Given the description of an element on the screen output the (x, y) to click on. 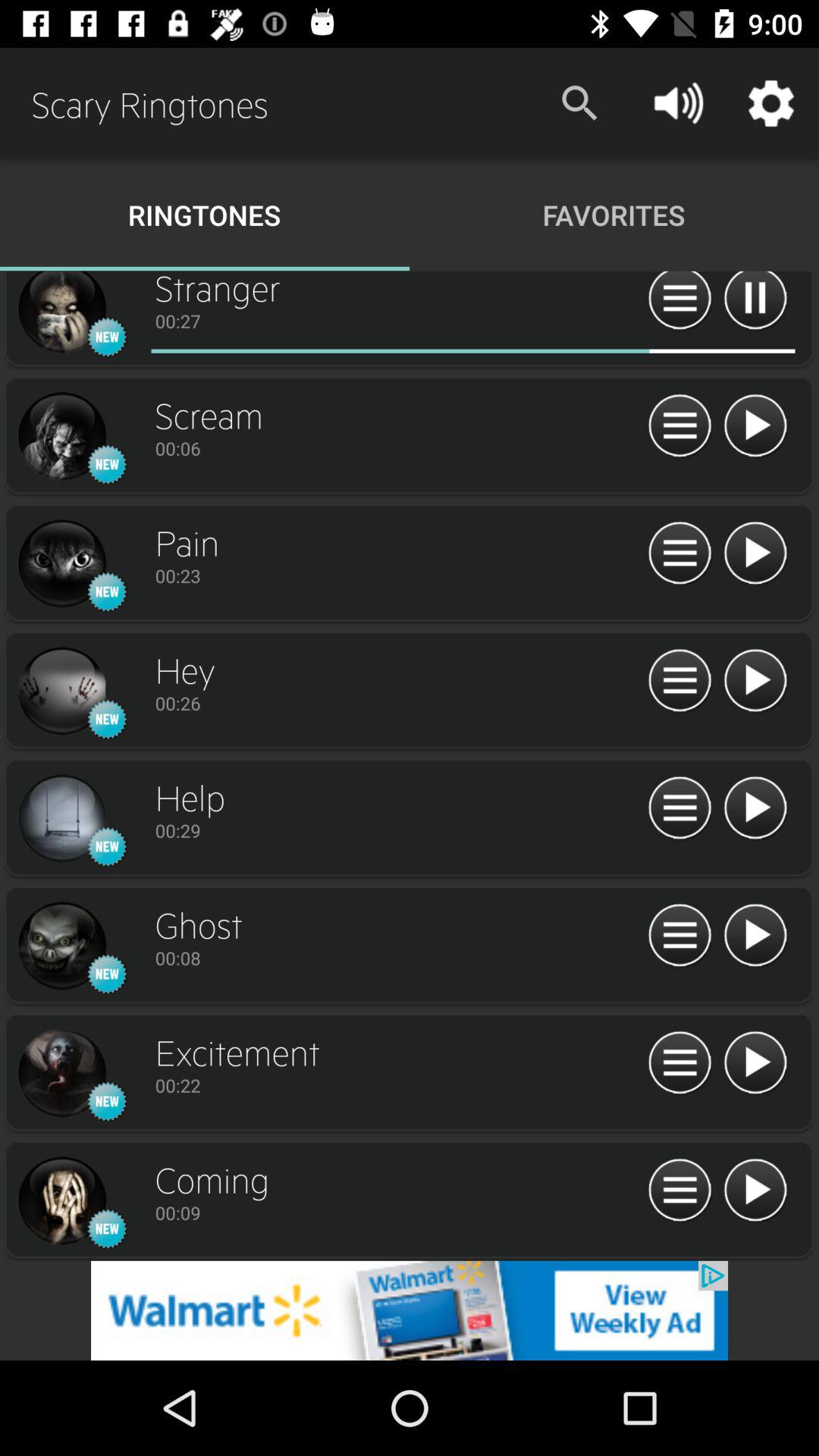
play song (755, 808)
